Given the description of an element on the screen output the (x, y) to click on. 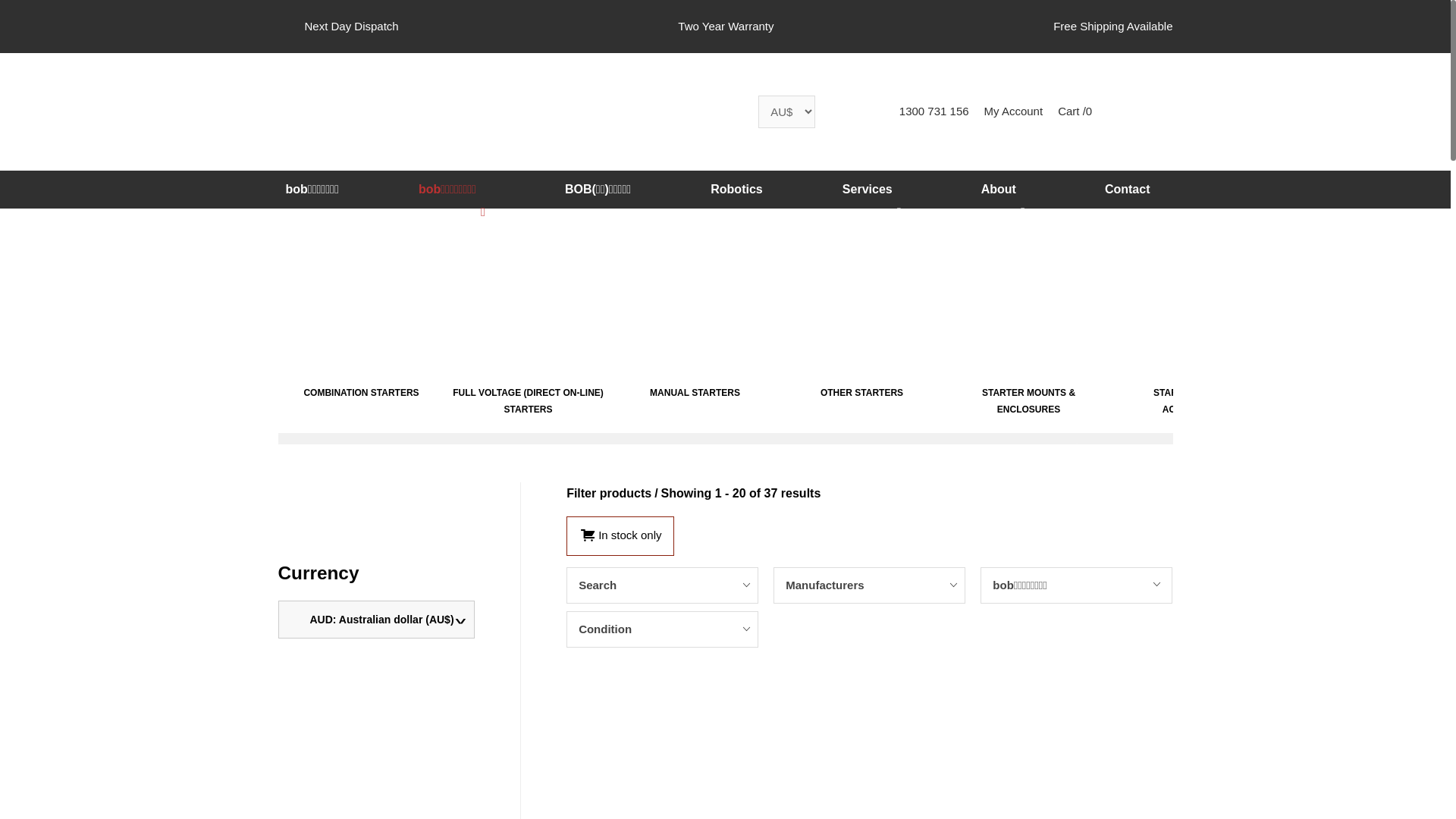
Cart /0 Element type: text (1074, 111)
Robotics Element type: text (735, 189)
Services Element type: text (871, 189)
MANUAL STARTERS Element type: text (694, 401)
About Element type: text (1002, 189)
STARTER PARTS & ACCESSORIES Element type: text (1194, 401)
Next Day Dispatch Element type: text (337, 26)
My Account Element type: text (1013, 111)
Contact Element type: text (1127, 189)
Free Shipping Available Element type: text (1099, 26)
FULL VOLTAGE (DIRECT ON-LINE) STARTERS Element type: text (527, 401)
OTHER STARTERS Element type: text (861, 401)
STARTER MOUNTS & ENCLOSURES Element type: text (1028, 401)
COMBINATION STARTERS Element type: text (360, 401)
Two Year Warranty Element type: text (712, 26)
1300 731 156 Element type: text (932, 111)
